Given the description of an element on the screen output the (x, y) to click on. 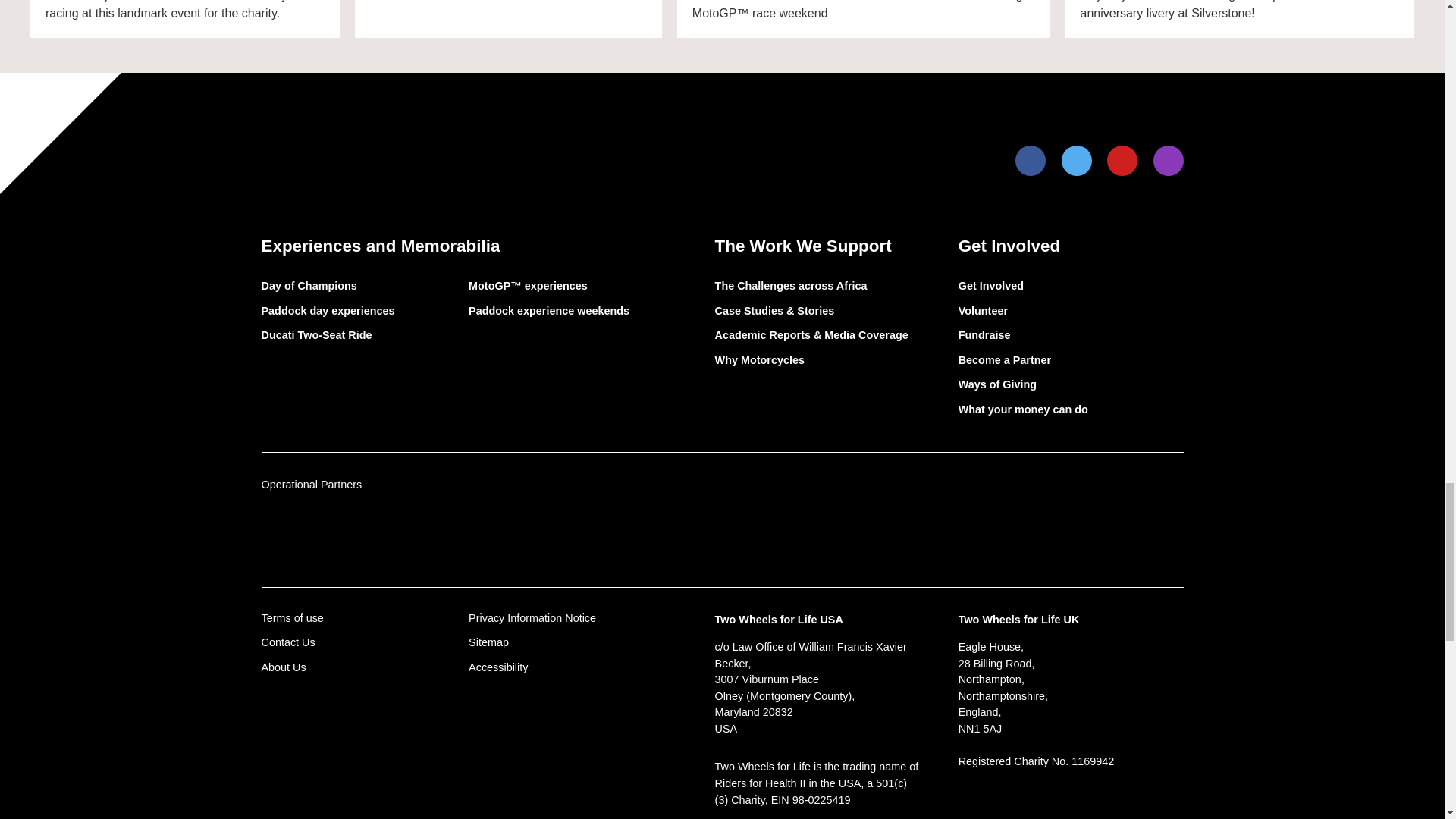
Youtube (1123, 160)
Instagram (1168, 160)
Twitter (1076, 160)
Facebook (1031, 160)
